Given the description of an element on the screen output the (x, y) to click on. 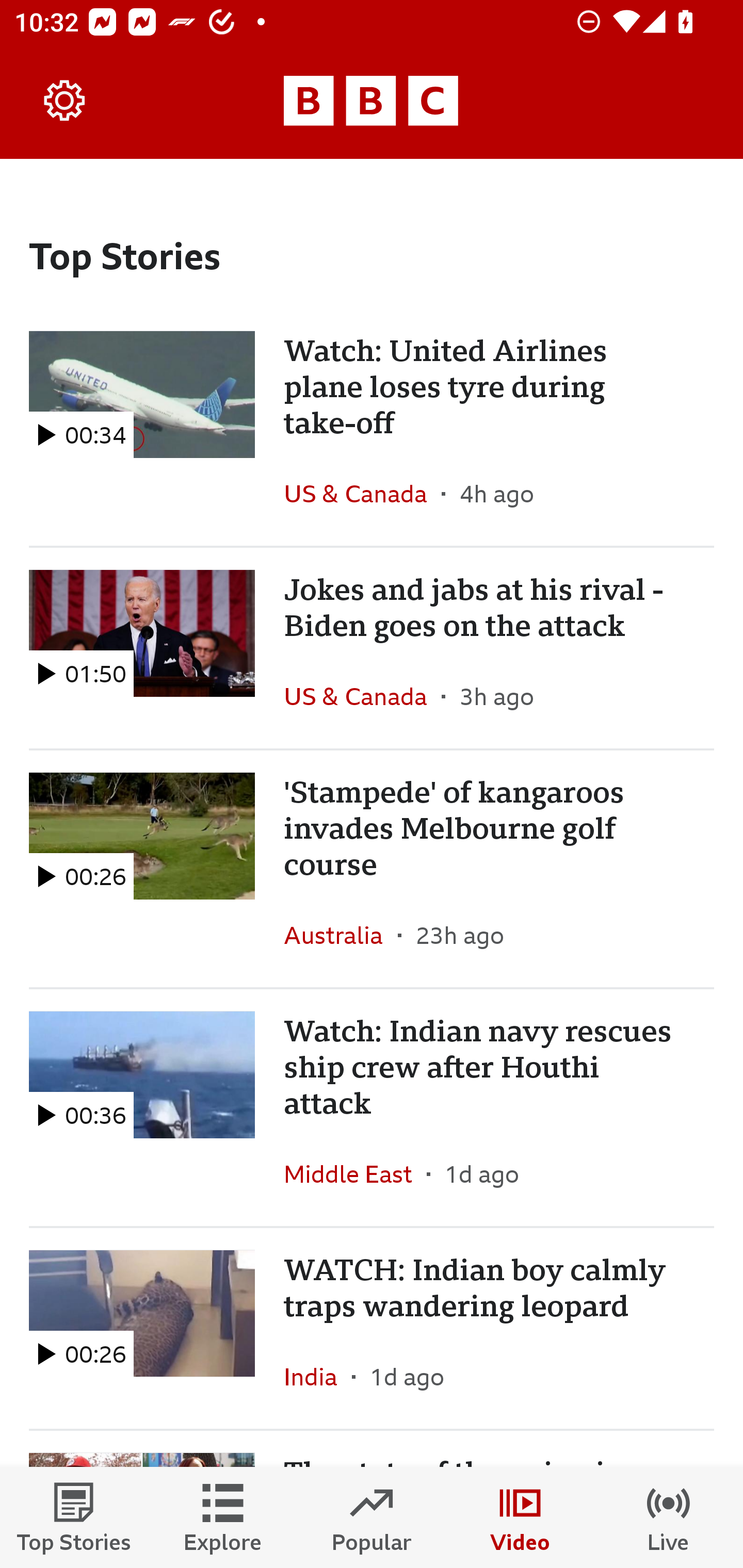
Settings (64, 100)
US & Canada In the section US & Canada (362, 493)
US & Canada In the section US & Canada (362, 695)
Australia In the section Australia (340, 934)
Middle East In the section Middle East (354, 1173)
India In the section India (317, 1376)
Top Stories (74, 1517)
Explore (222, 1517)
Popular (371, 1517)
Live (668, 1517)
